Given the description of an element on the screen output the (x, y) to click on. 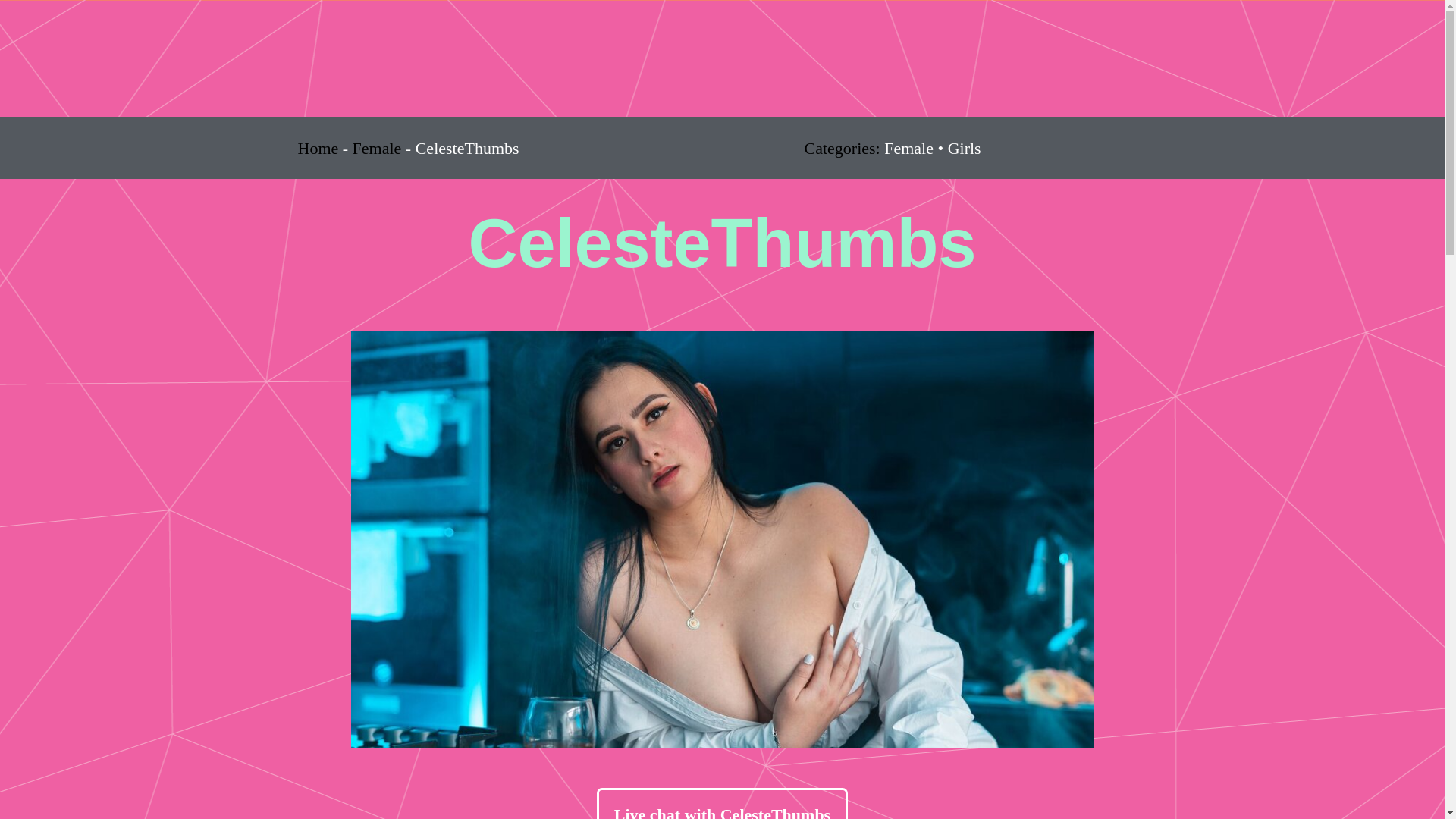
Home (317, 148)
Live chat with CelesteThumbs (721, 803)
Female (376, 148)
